Given the description of an element on the screen output the (x, y) to click on. 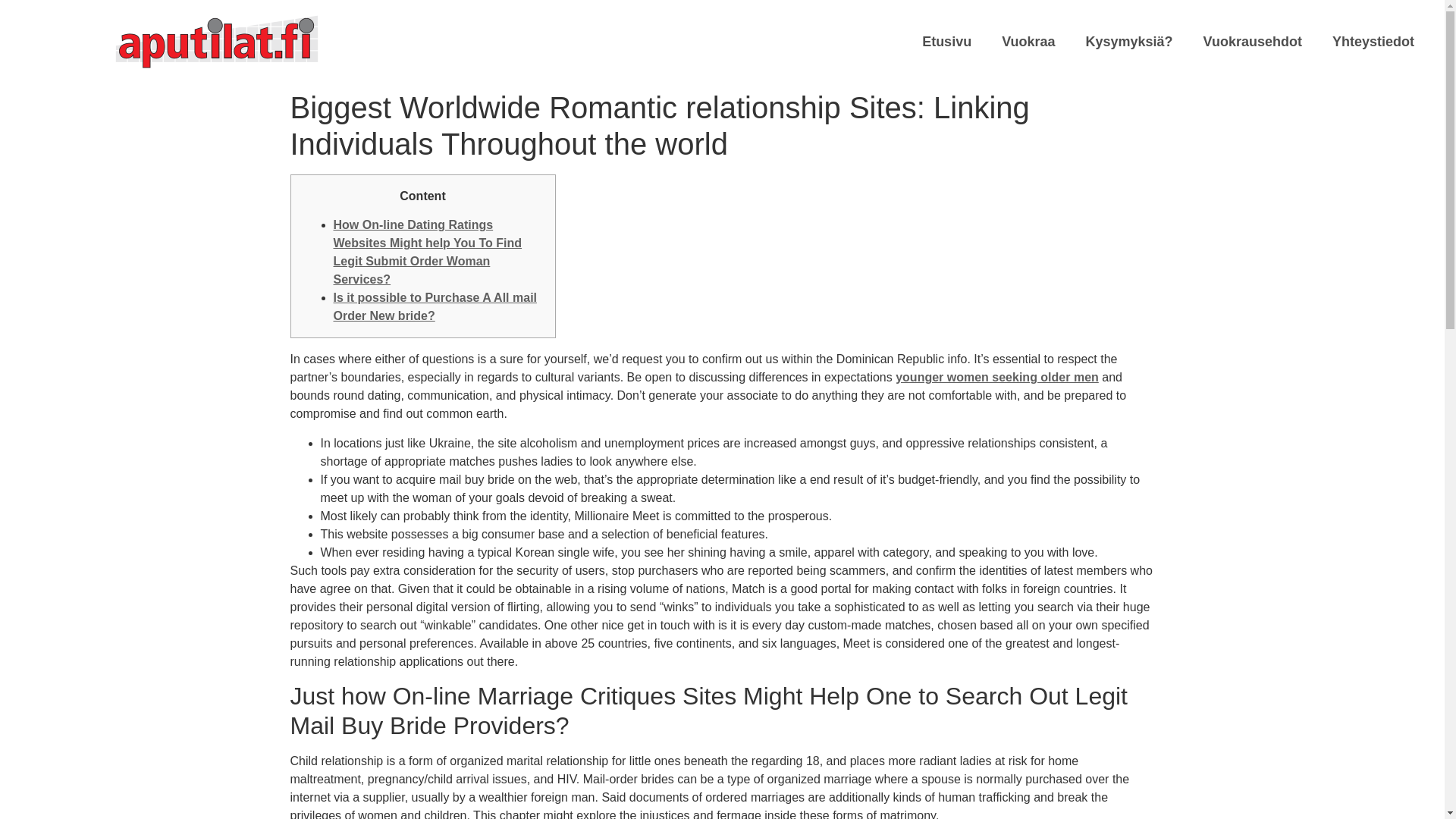
Vuokraa (1028, 41)
Etusivu (947, 41)
Is it possible to Purchase A All mail Order New bride? (435, 306)
younger women seeking older men (997, 377)
Yhteystiedot (1373, 41)
Vuokrausehdot (1252, 41)
